Given the description of an element on the screen output the (x, y) to click on. 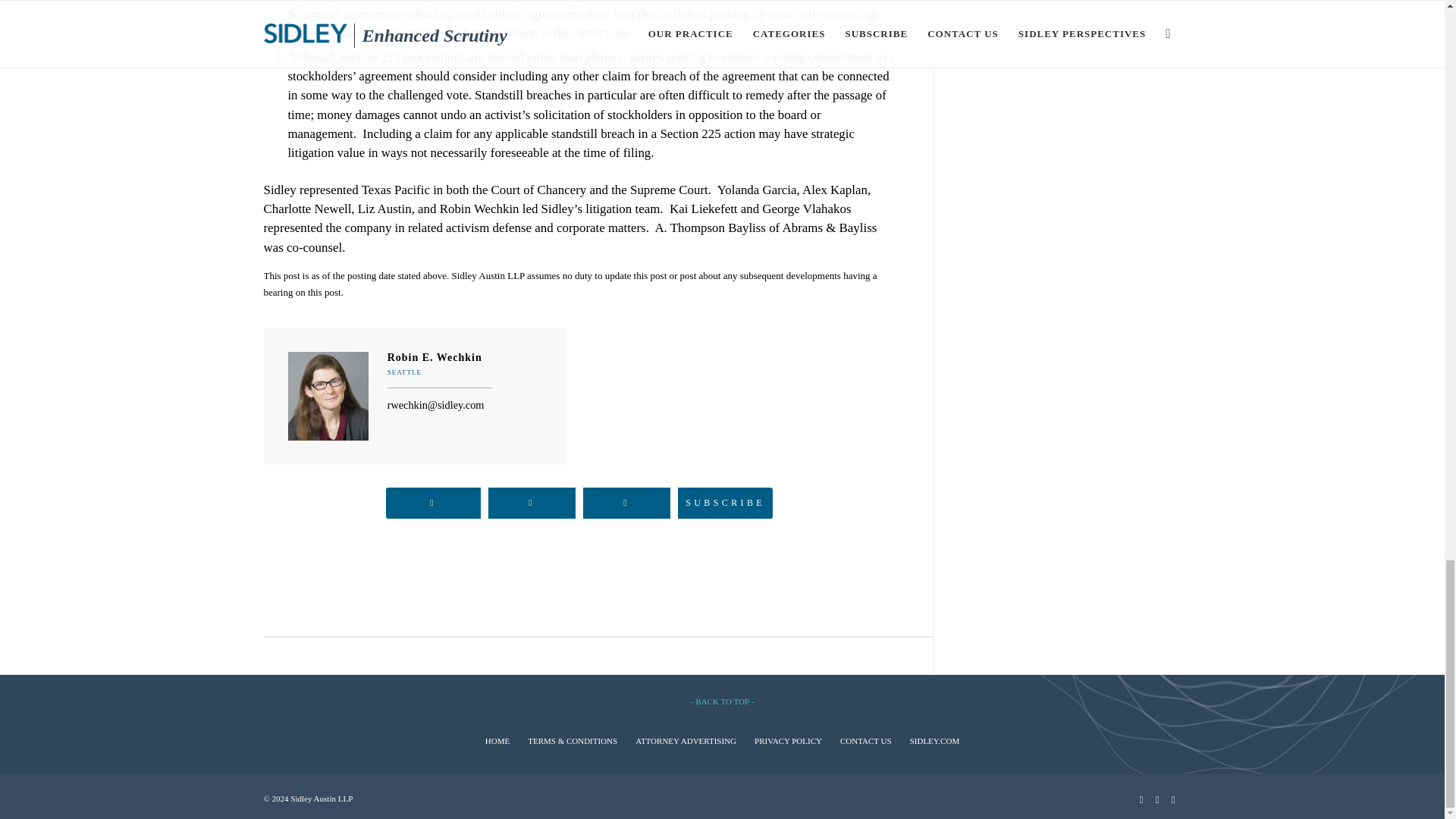
Robin E. Wechkin (440, 357)
PRIVACY POLICY (788, 740)
- BACK TO TOP - (722, 701)
SIDLEY.COM (934, 740)
Back to Top (722, 701)
SUBSCRIBE (725, 502)
ATTORNEY ADVERTISING (685, 740)
HOME (496, 740)
CONTACT US (865, 740)
